Given the description of an element on the screen output the (x, y) to click on. 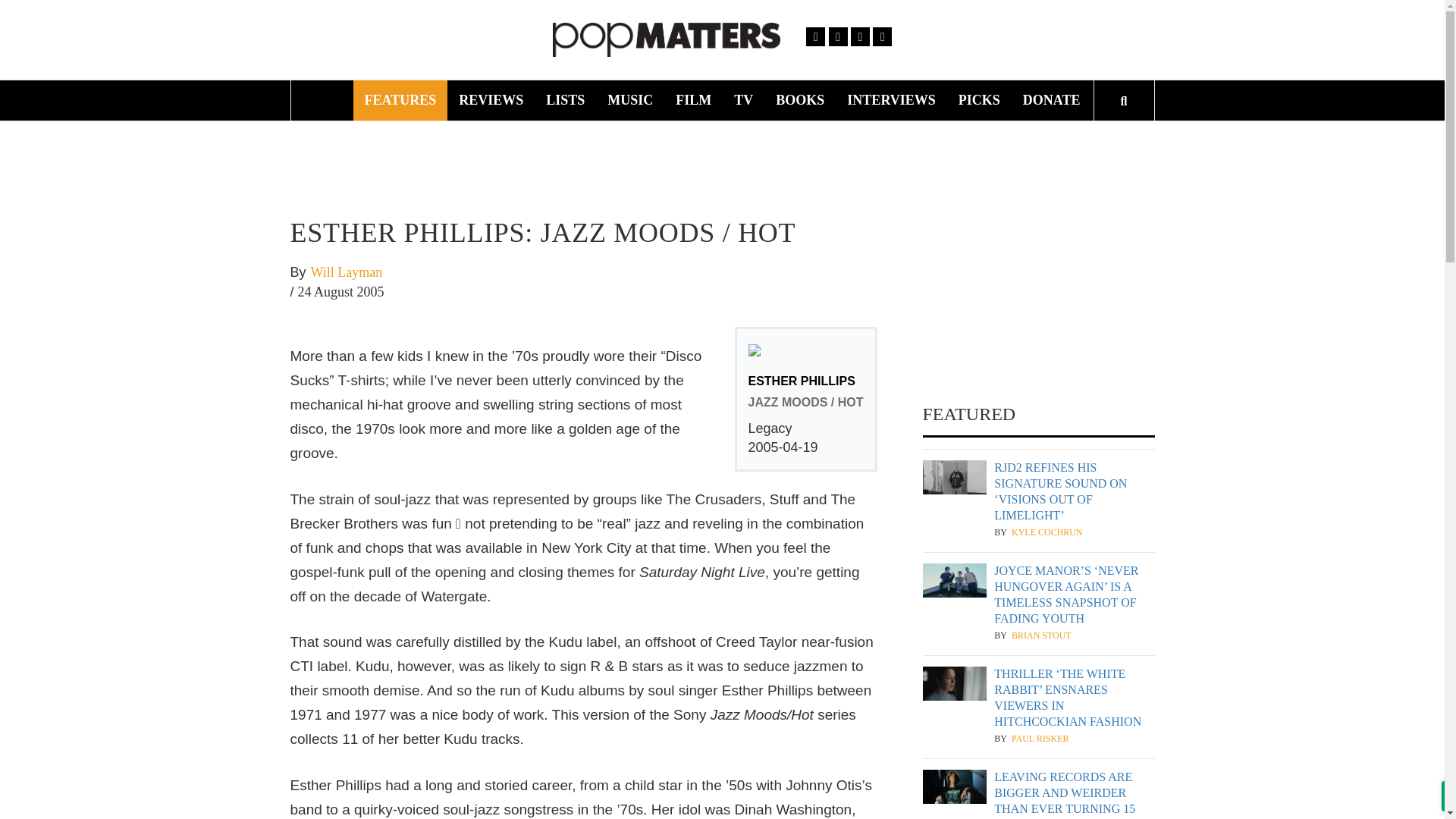
INTERVIEWS (890, 100)
Will Layman (346, 272)
POPMATTERS (903, 45)
KYLE COCHRUN (1047, 532)
Paul Risker (1039, 738)
FEATURES (400, 100)
REVIEWS (490, 100)
DONATE (1051, 100)
FILM (692, 100)
Spotify (881, 36)
Kyle Cochrun (1047, 532)
Brian Stout (1041, 635)
Instagram (859, 36)
PICKS (979, 100)
LISTS (564, 100)
